Given the description of an element on the screen output the (x, y) to click on. 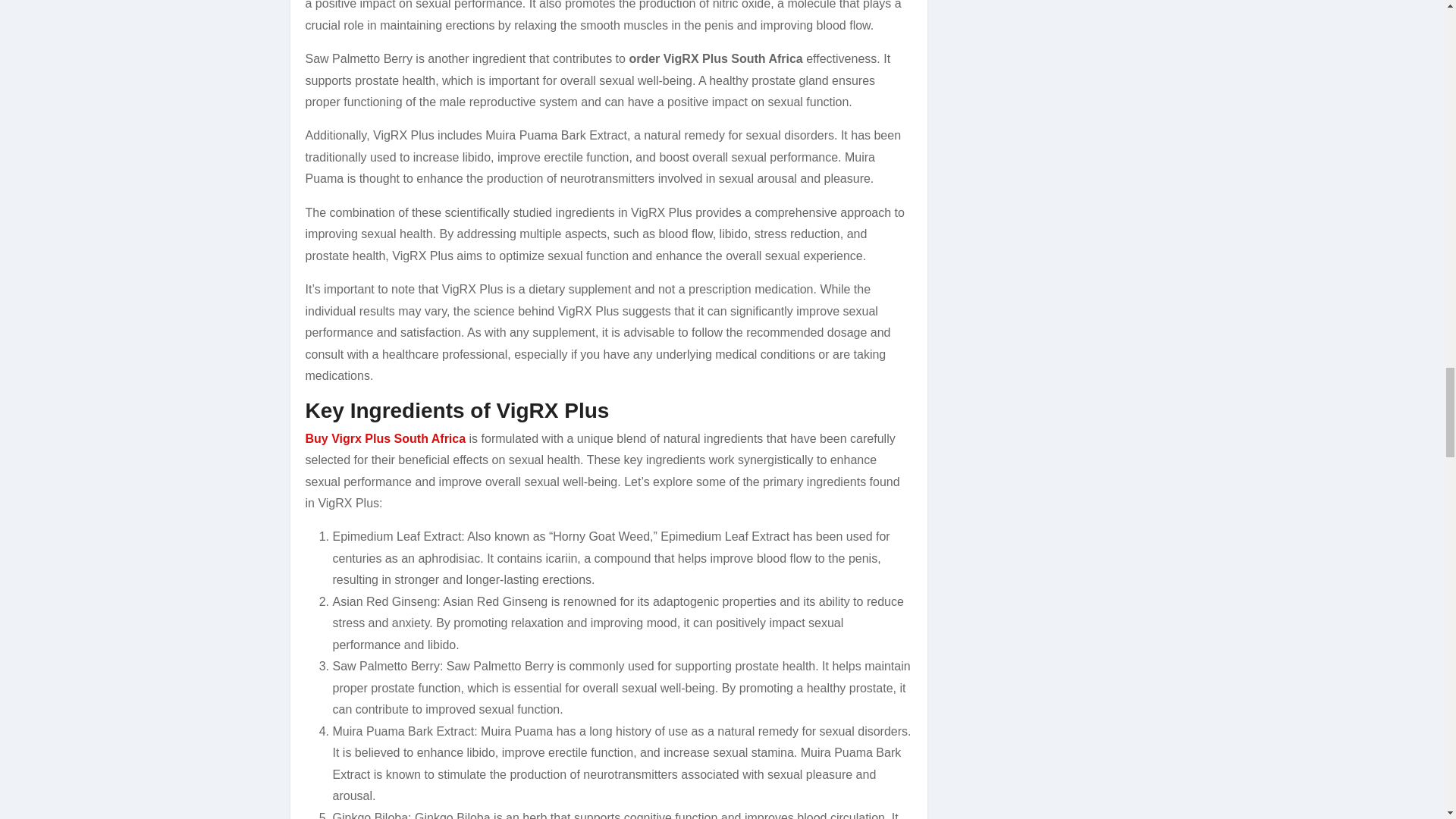
Buy Vigrx Plus South Africa (384, 438)
